Given the description of an element on the screen output the (x, y) to click on. 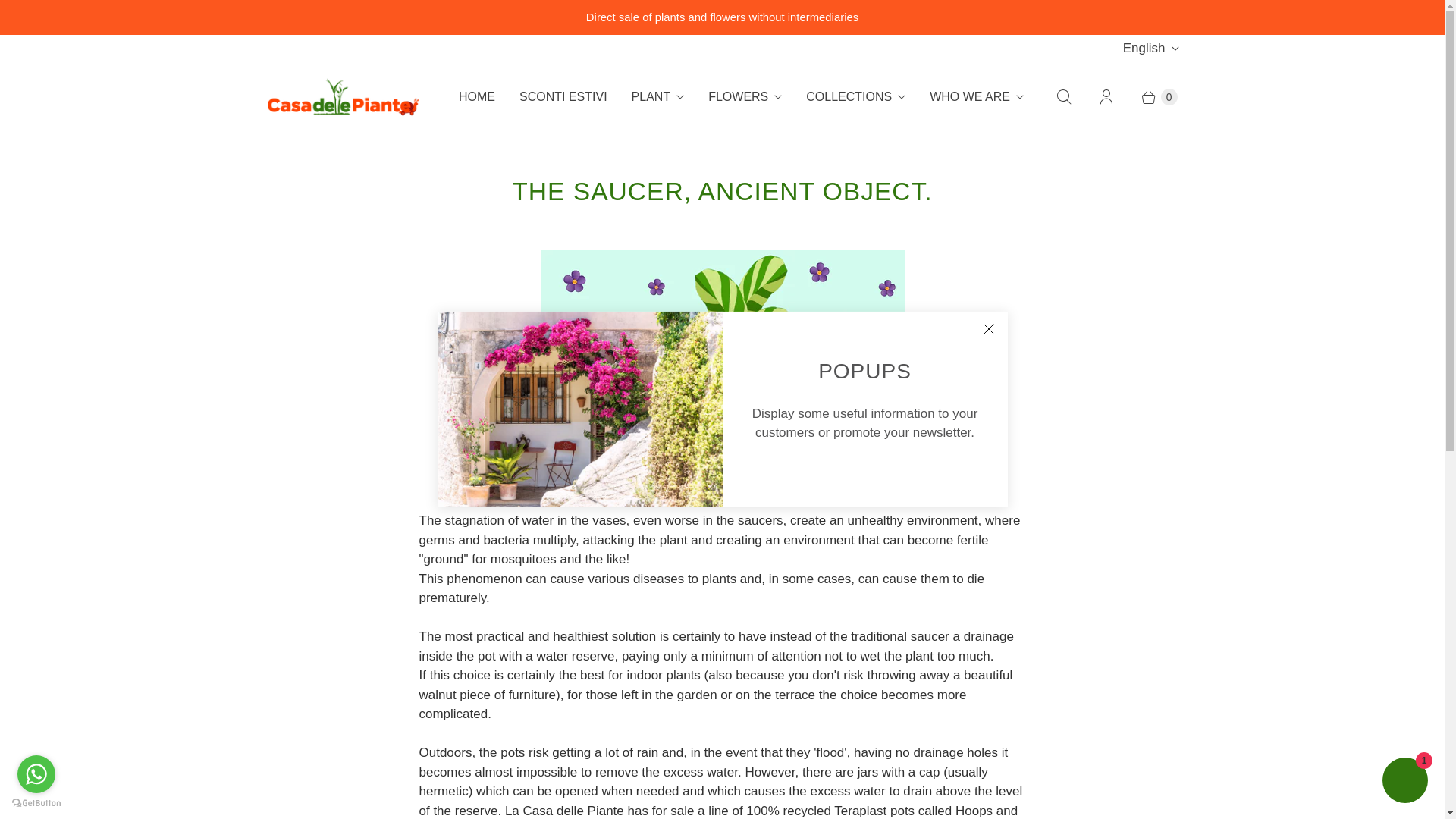
SCONTI ESTIVI (563, 96)
Shopify online store chat (1404, 781)
HOME (476, 96)
English (1149, 48)
